Given the description of an element on the screen output the (x, y) to click on. 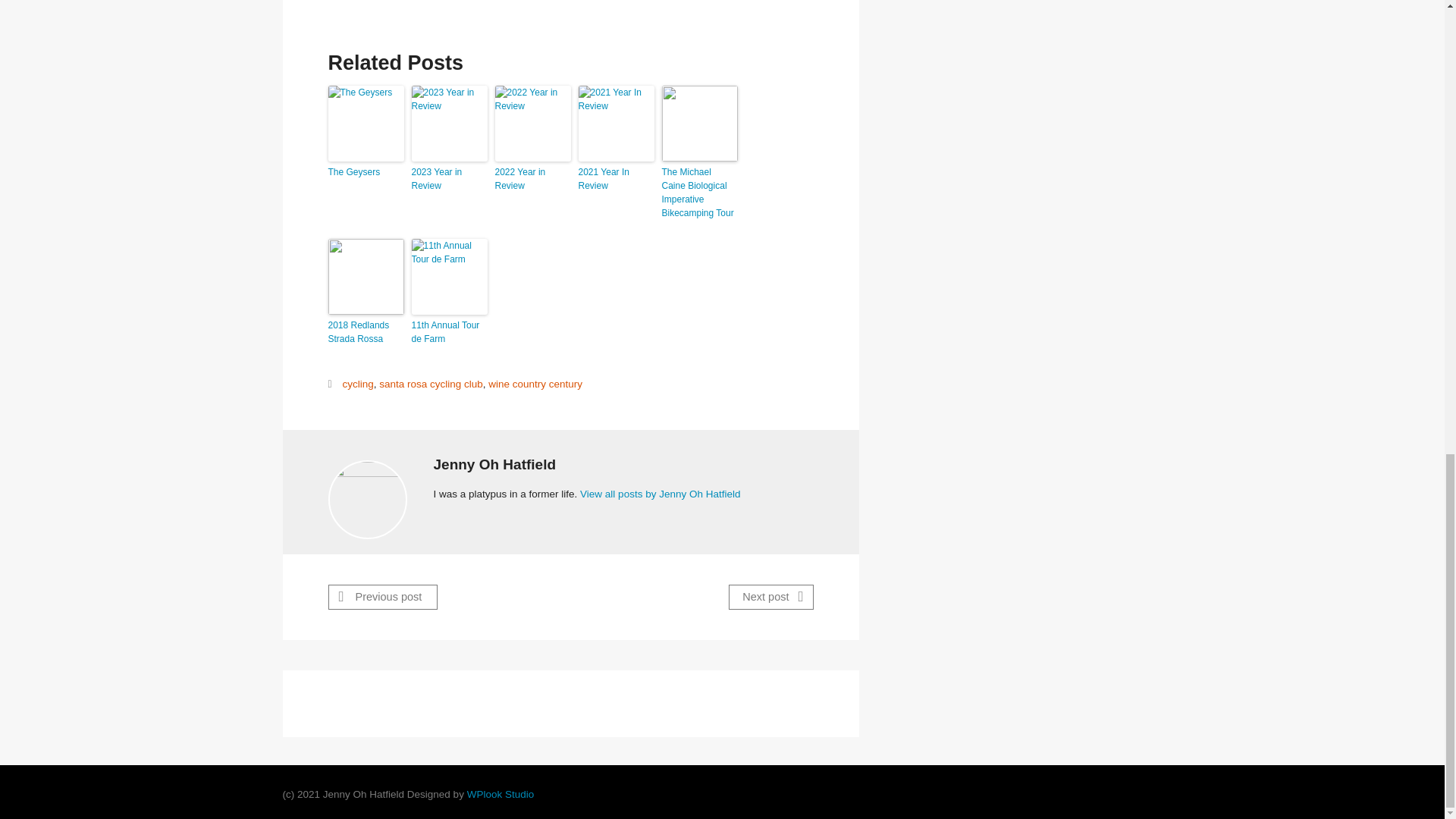
WPlook Studio (500, 794)
2021 Year In Review (615, 178)
2022 Year in Review (532, 178)
The Michael Caine Biological Imperative Bikecamping Tour (698, 192)
View all posts by Jenny Oh Hatfield (659, 493)
The Geysers (365, 172)
cycling (357, 383)
11th Annual Tour de Farm (448, 331)
santa rosa cycling club (430, 383)
2018 Redlands Strada Rossa (365, 331)
